Given the description of an element on the screen output the (x, y) to click on. 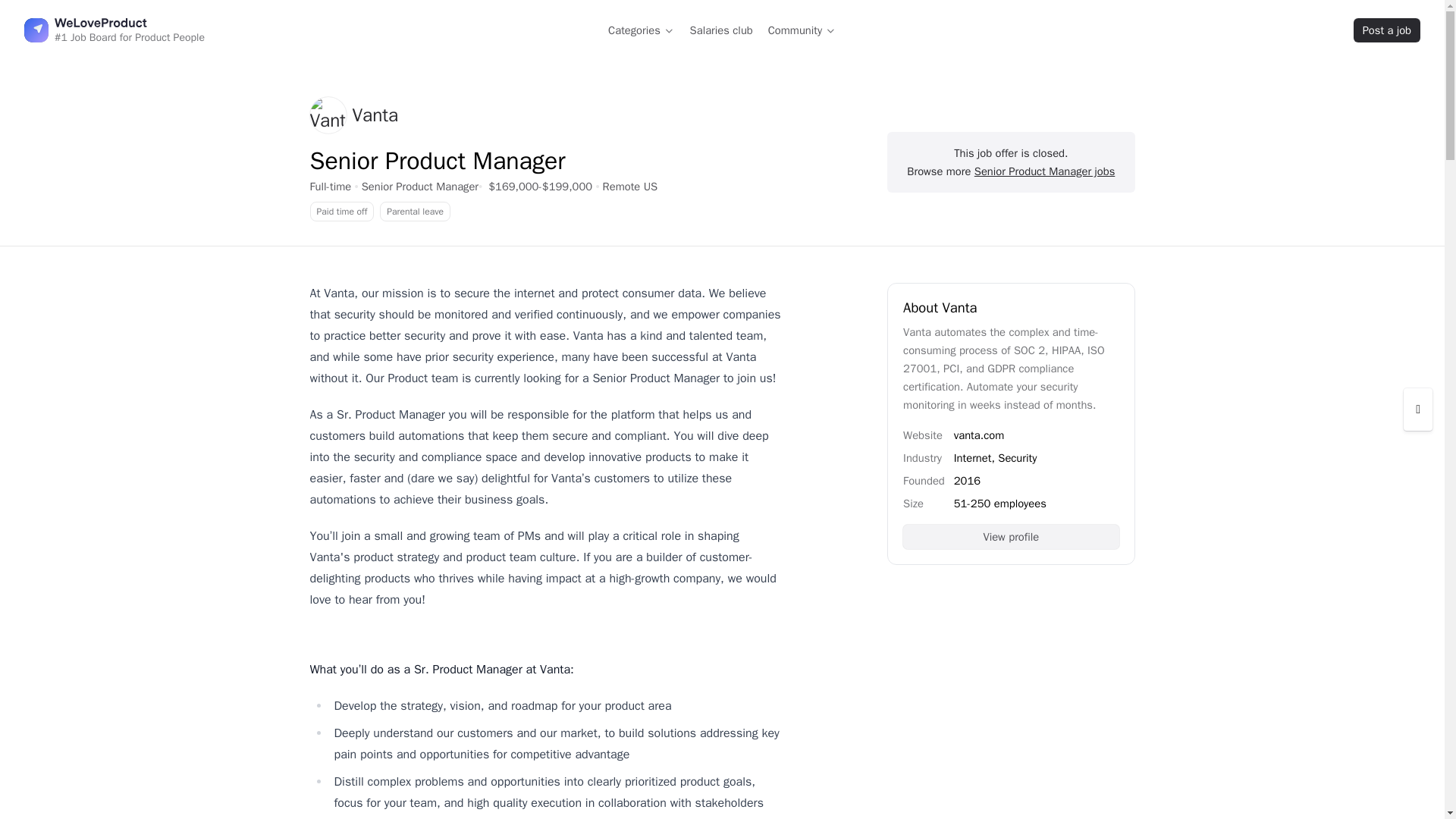
browse more Senior Product Manager jobs (420, 186)
browse more Senior Product Manager jobs (1044, 171)
View jobs from Vanta (352, 115)
Salaries club (721, 30)
